Given the description of an element on the screen output the (x, y) to click on. 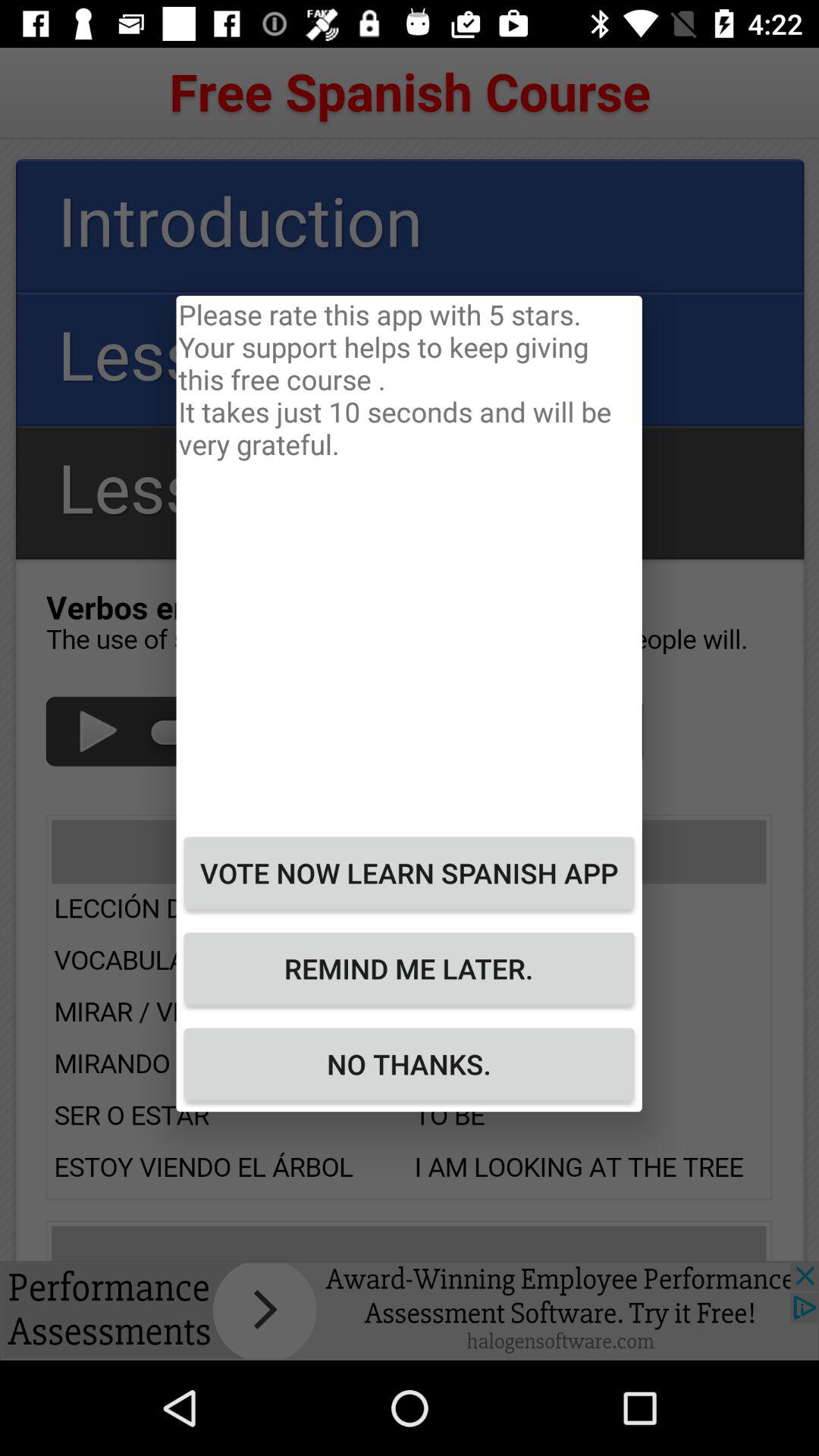
launch the icon below please rate this (409, 872)
